Given the description of an element on the screen output the (x, y) to click on. 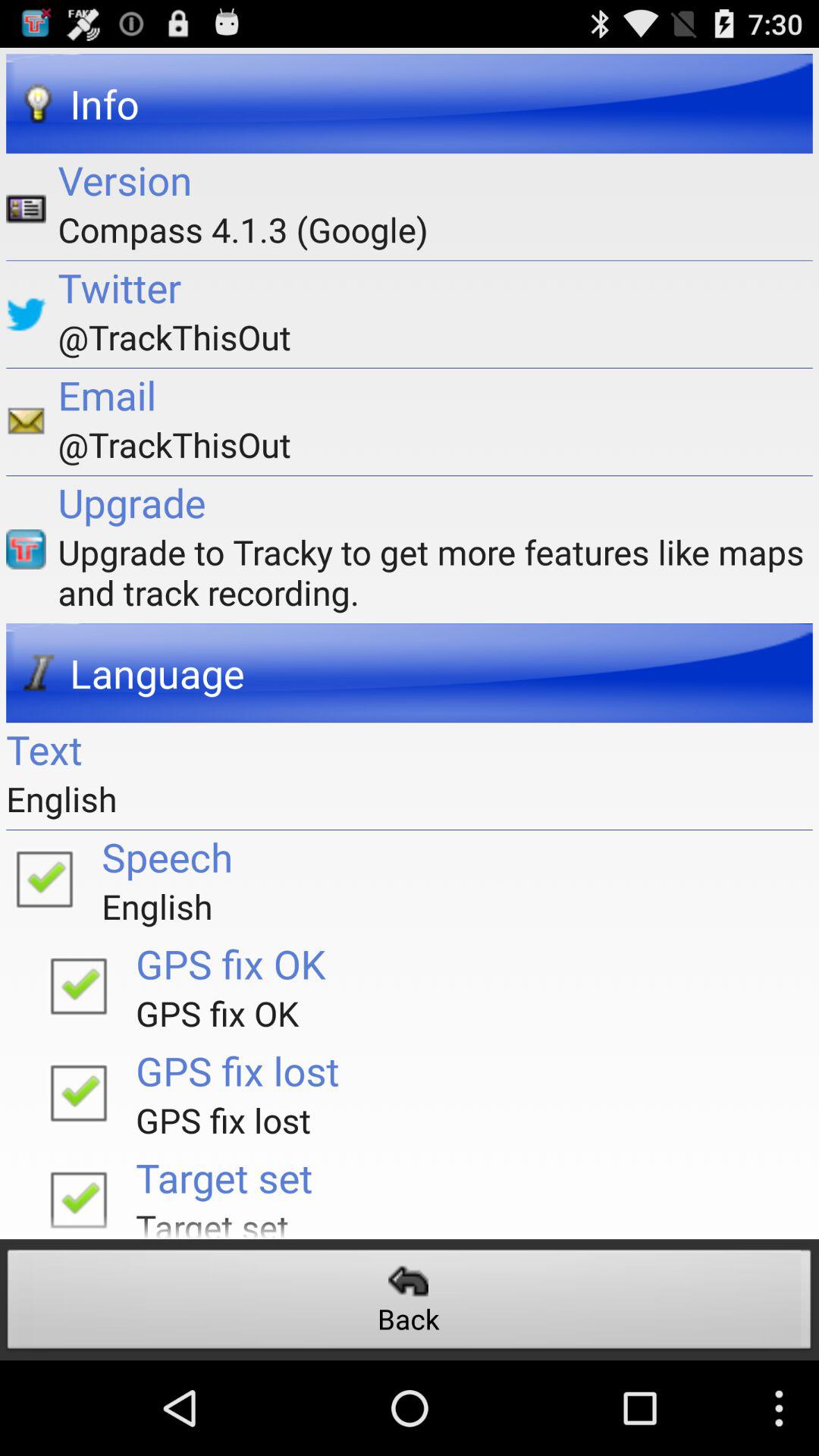
toggle gps fix lost option on or off (78, 1091)
